Given the description of an element on the screen output the (x, y) to click on. 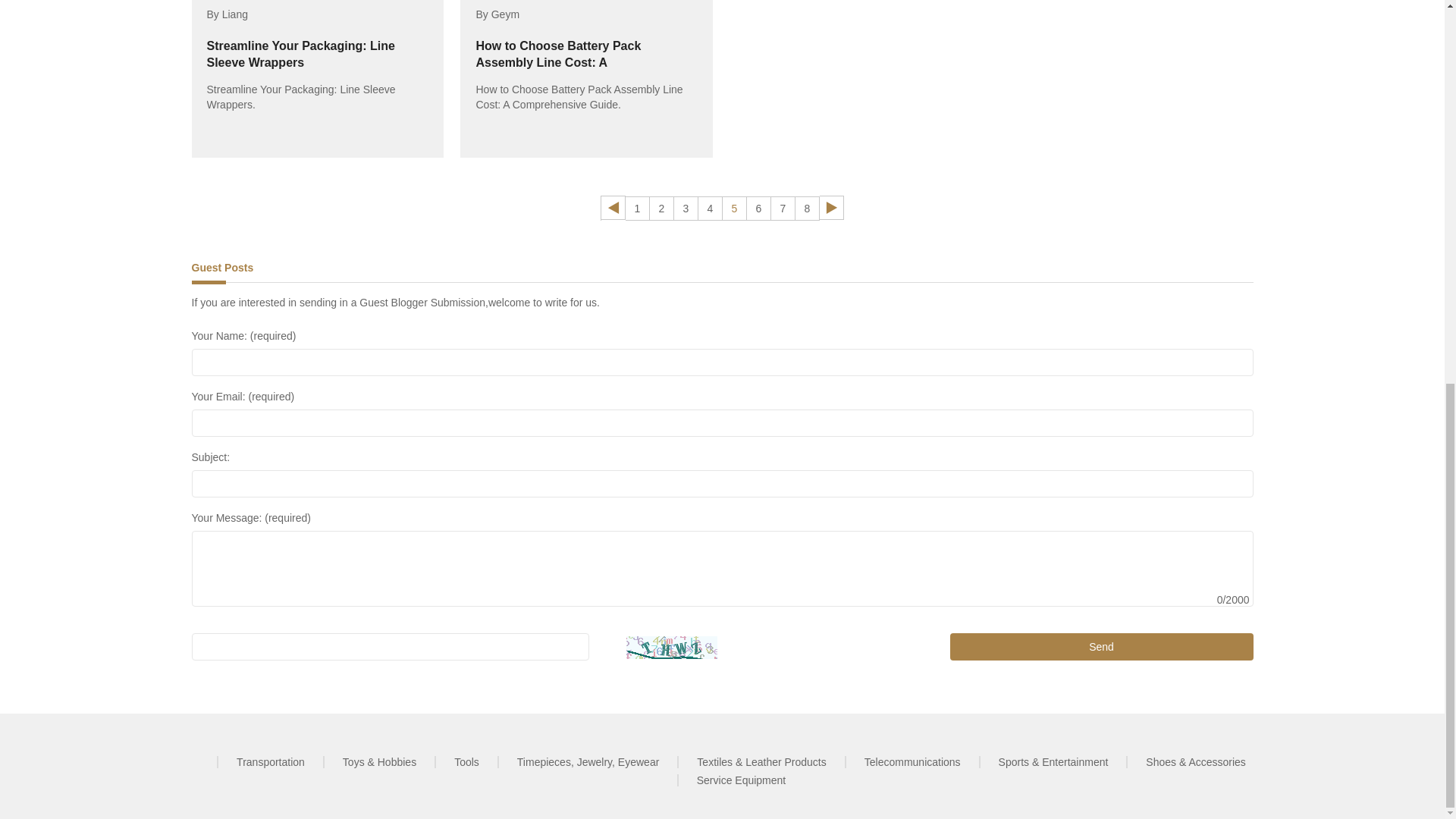
Send (1101, 646)
